Given the description of an element on the screen output the (x, y) to click on. 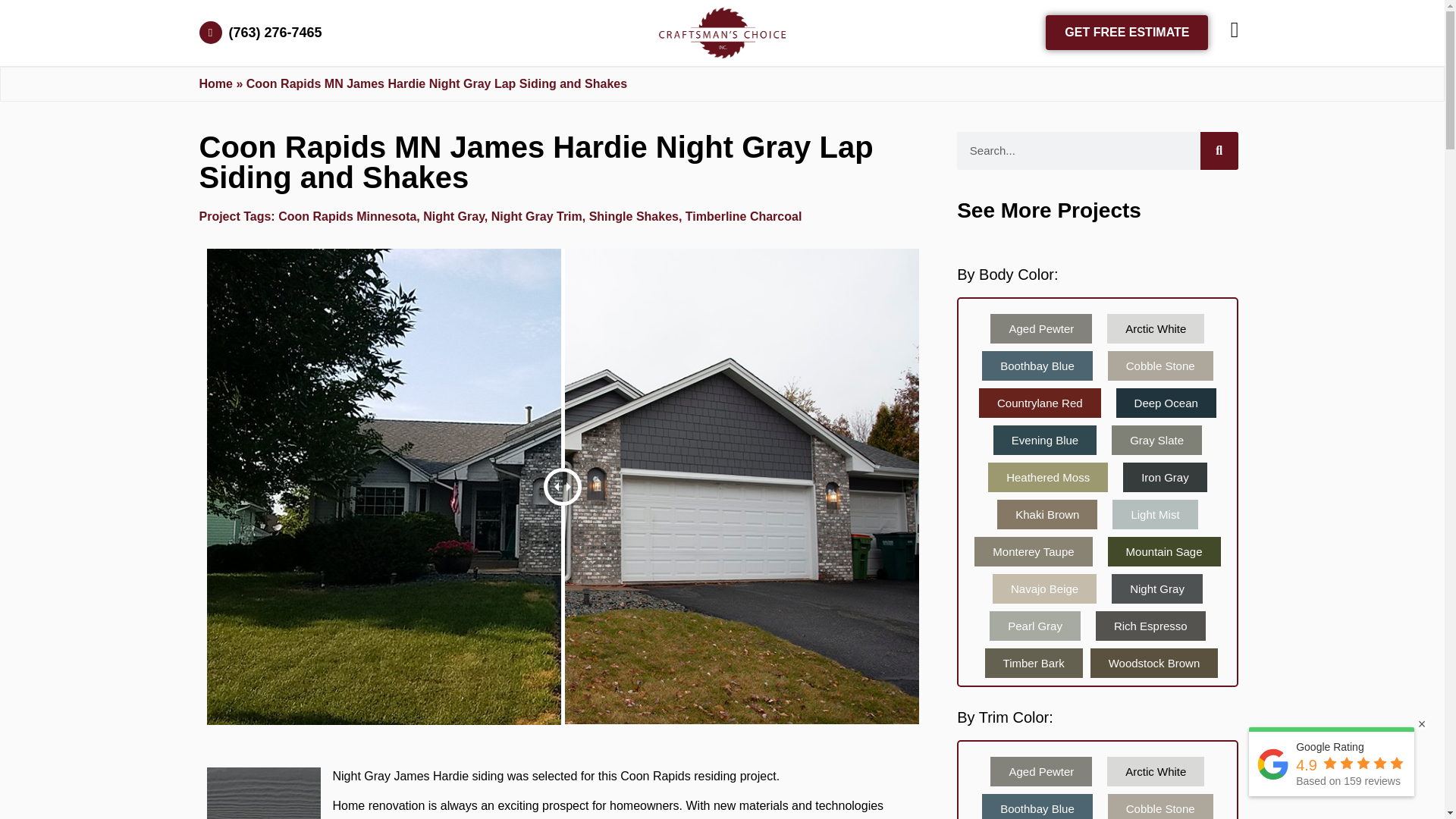
GET FREE ESTIMATE (1126, 32)
